Given the description of an element on the screen output the (x, y) to click on. 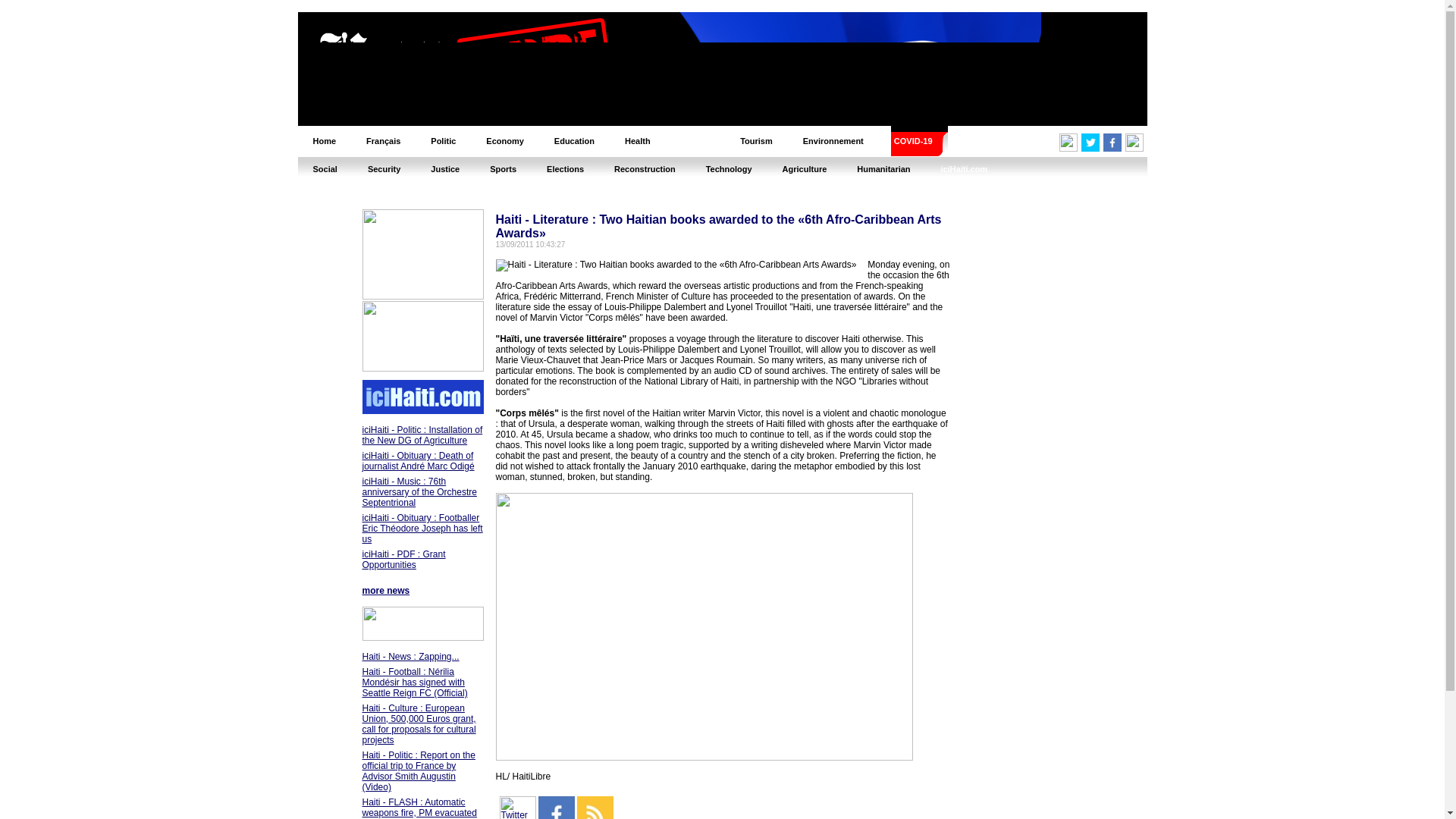
Culture (695, 141)
Culture (695, 141)
Home (323, 141)
Elections (564, 168)
Politic (442, 141)
Agriculture (805, 168)
Reconstruction (644, 168)
more news (386, 590)
Education (574, 141)
Justice (444, 168)
Education (574, 141)
COVID-19 (913, 141)
Humanitarian (882, 168)
Technology (728, 168)
